Given the description of an element on the screen output the (x, y) to click on. 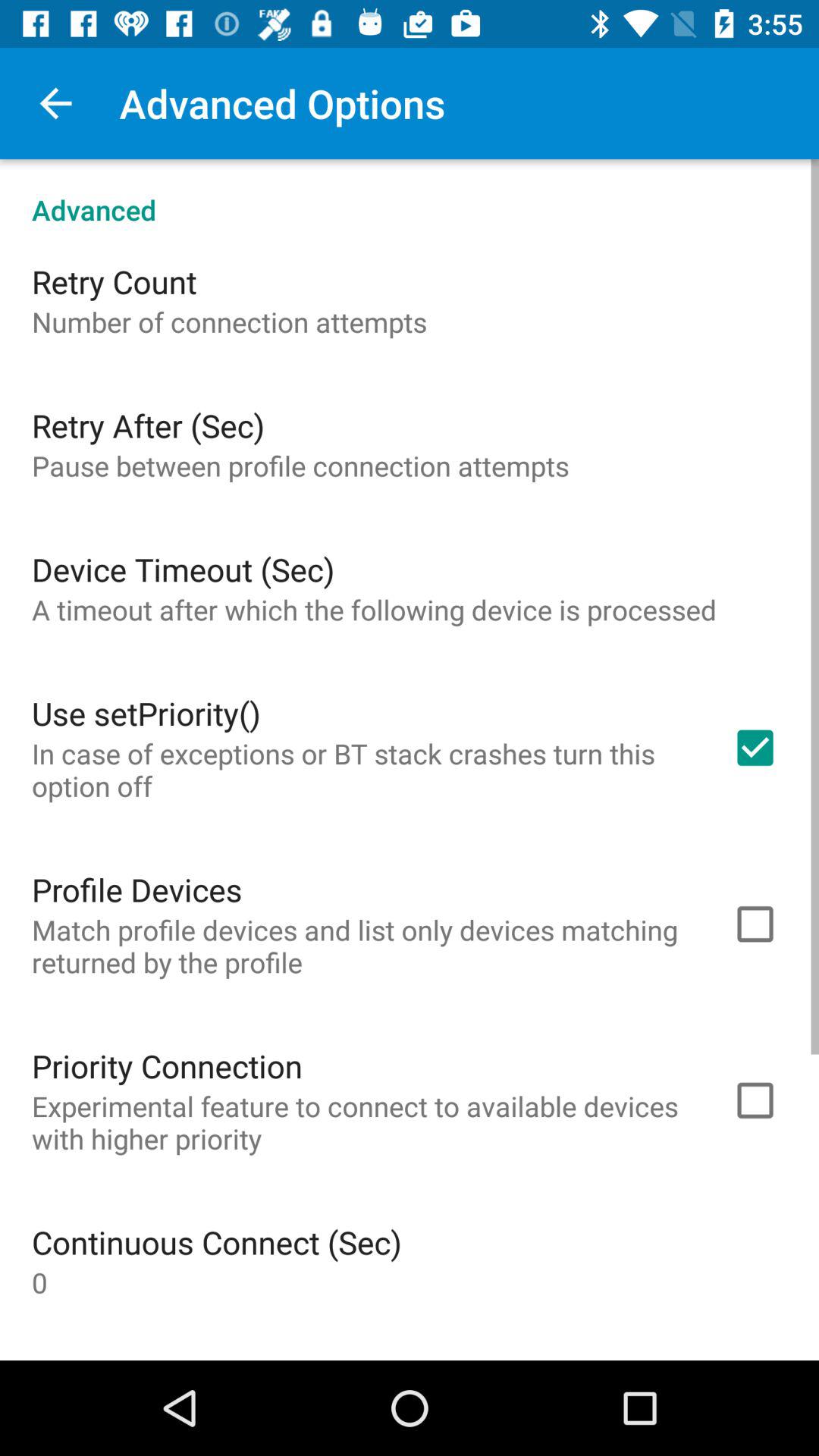
go back (55, 103)
